Given the description of an element on the screen output the (x, y) to click on. 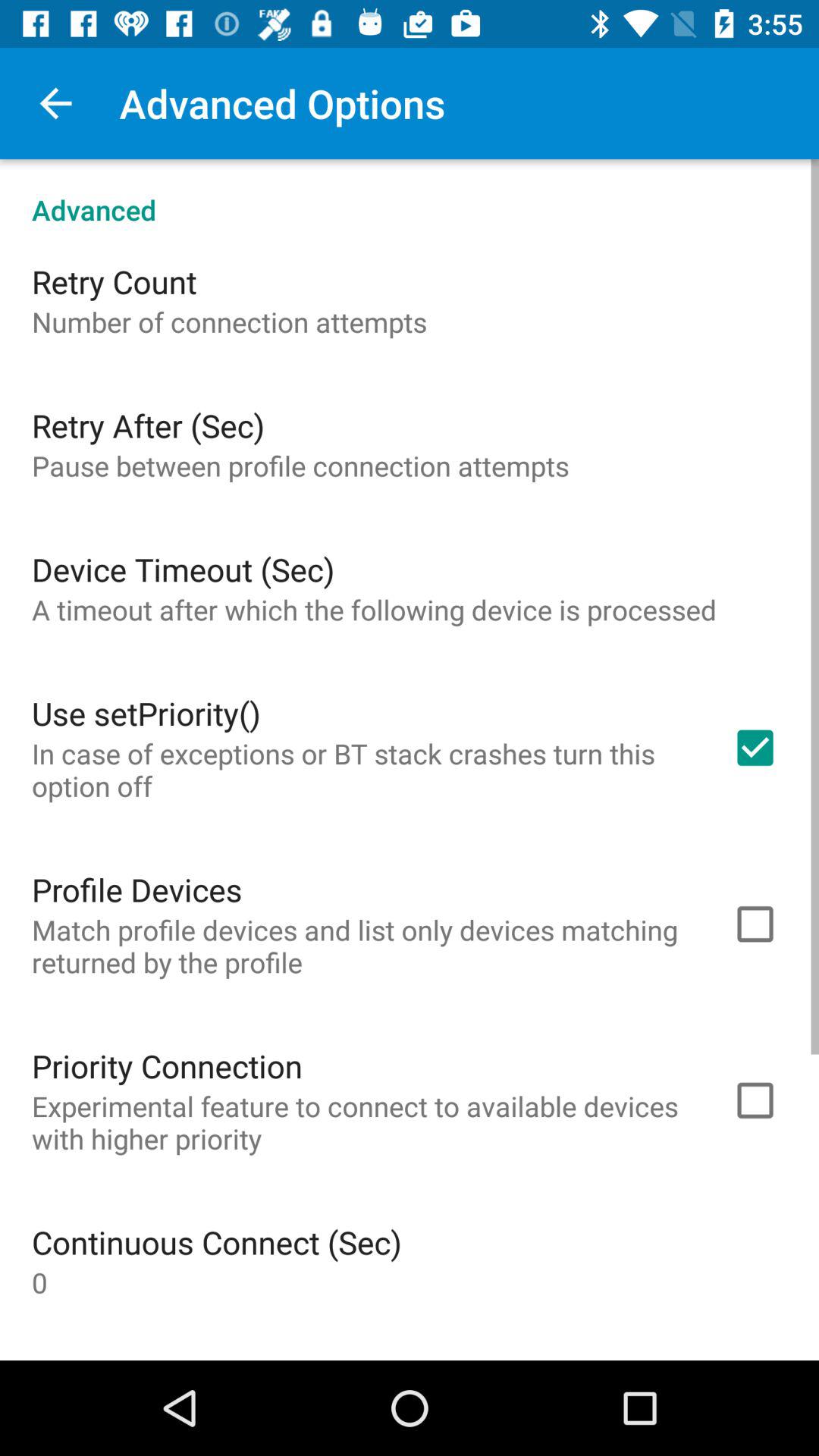
go back (55, 103)
